Given the description of an element on the screen output the (x, y) to click on. 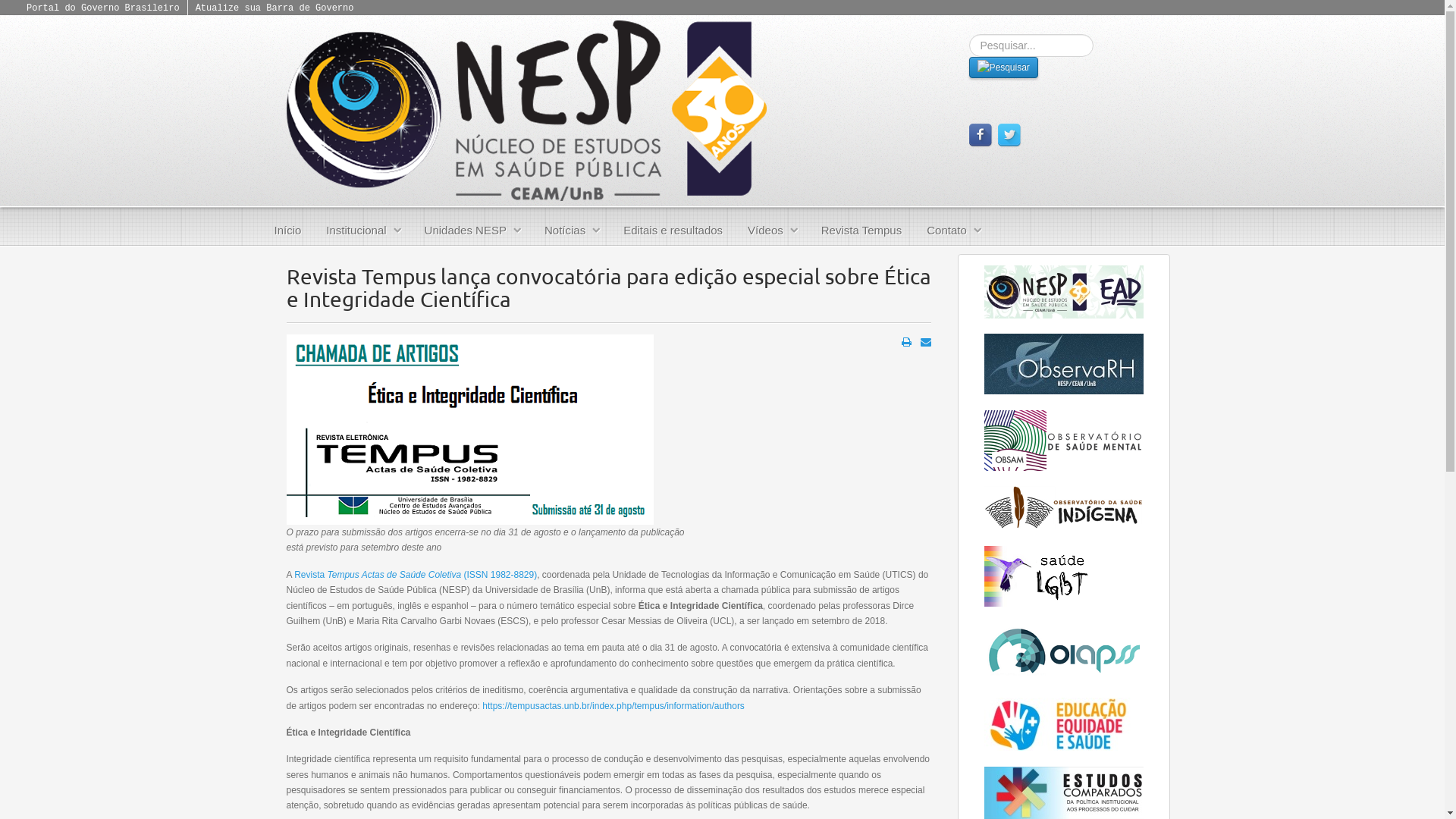
Editais e resultados Element type: text (672, 230)
Envie este link a um amigo Element type: hover (925, 341)
Contato Element type: text (952, 230)
Institucional Element type: text (362, 230)
Atualize sua Barra de Governo Element type: text (274, 8)
facebook.com/nesp.unb Element type: hover (981, 135)
(ISSN 1982-8829) Element type: text (498, 574)
Revista Tempus Element type: text (861, 230)
Oiapss Element type: hover (1063, 651)
ObservaRH Element type: hover (1063, 363)
Unidades NESP Element type: text (471, 230)
NESP EaD Element type: hover (1063, 290)
Estudos Comparados Element type: hover (1063, 792)
Revista Element type: text (310, 574)
Portal do Governo Brasileiro Element type: text (102, 8)
